Given the description of an element on the screen output the (x, y) to click on. 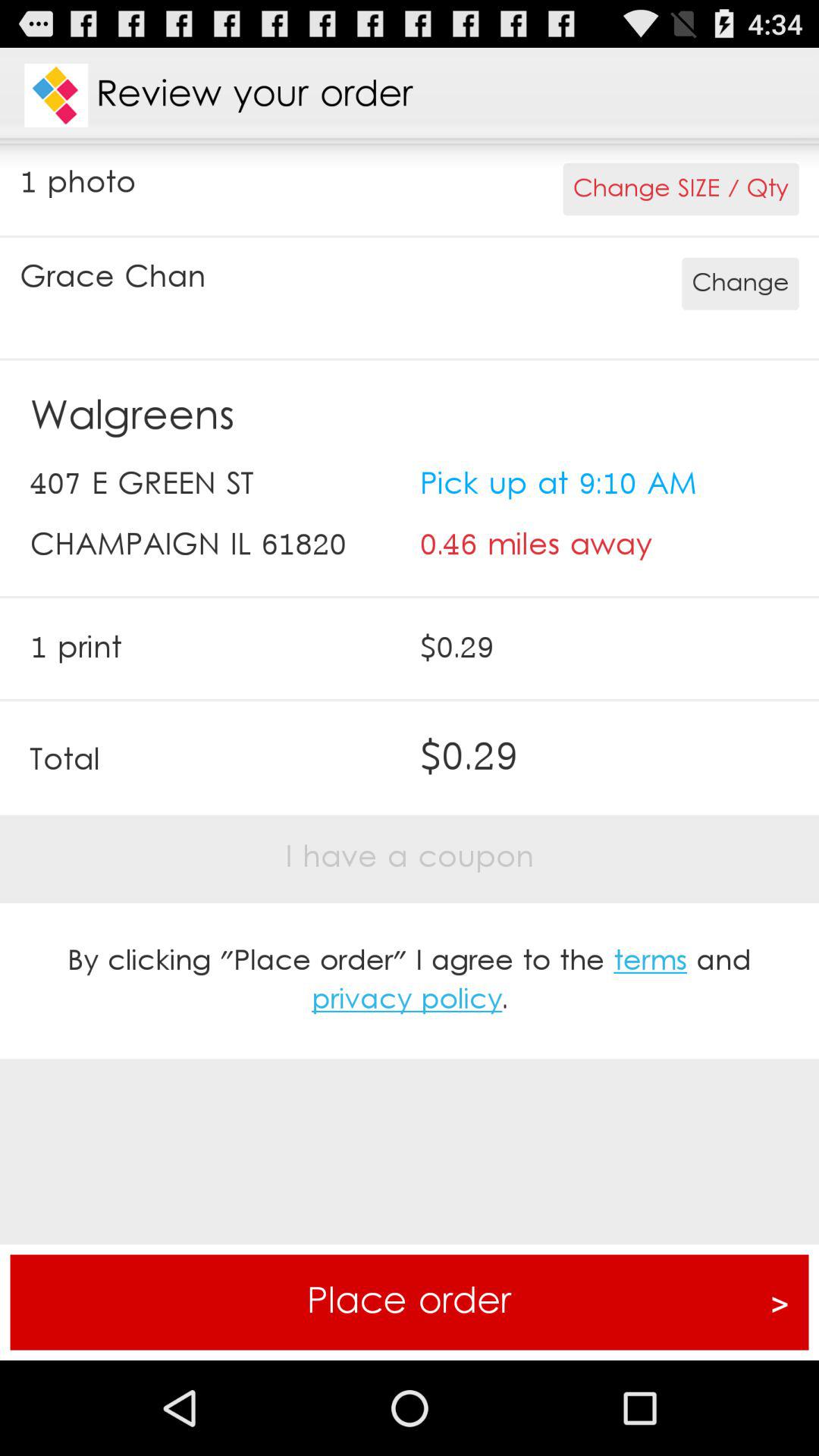
choose the by clicking place item (409, 980)
